Given the description of an element on the screen output the (x, y) to click on. 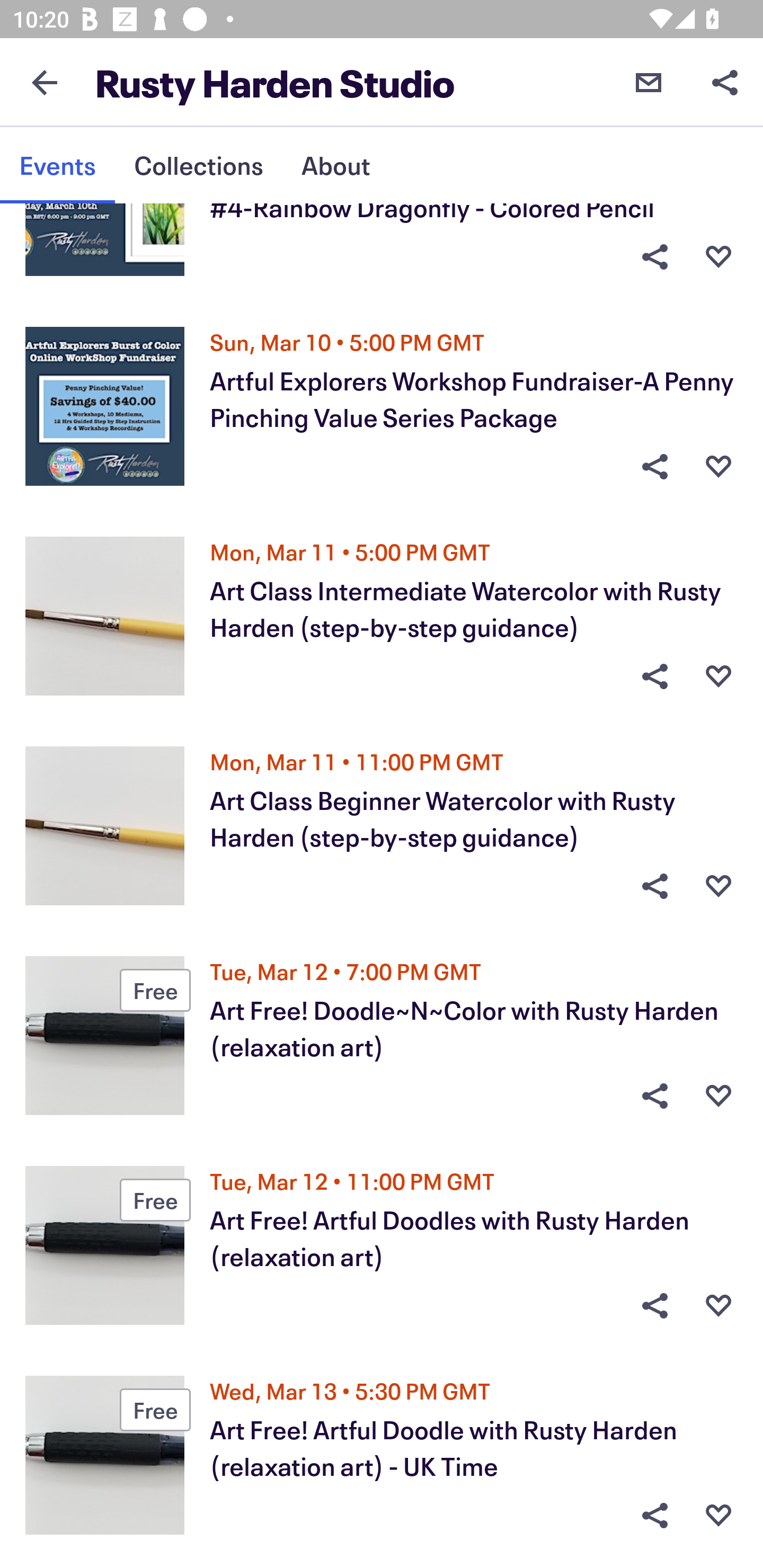
Navigate up (44, 82)
Contact (648, 81)
Share (724, 81)
Collections (198, 165)
About (335, 165)
Share Event (654, 256)
Like event (718, 256)
Share Event (654, 466)
Like event (718, 466)
Share Event (654, 676)
Like event (718, 676)
Share Event (654, 885)
Like event (718, 885)
Share Event (654, 1095)
Like event (718, 1095)
Share Event (654, 1305)
Like event (718, 1305)
Share Event (654, 1515)
Like event (718, 1515)
